Given the description of an element on the screen output the (x, y) to click on. 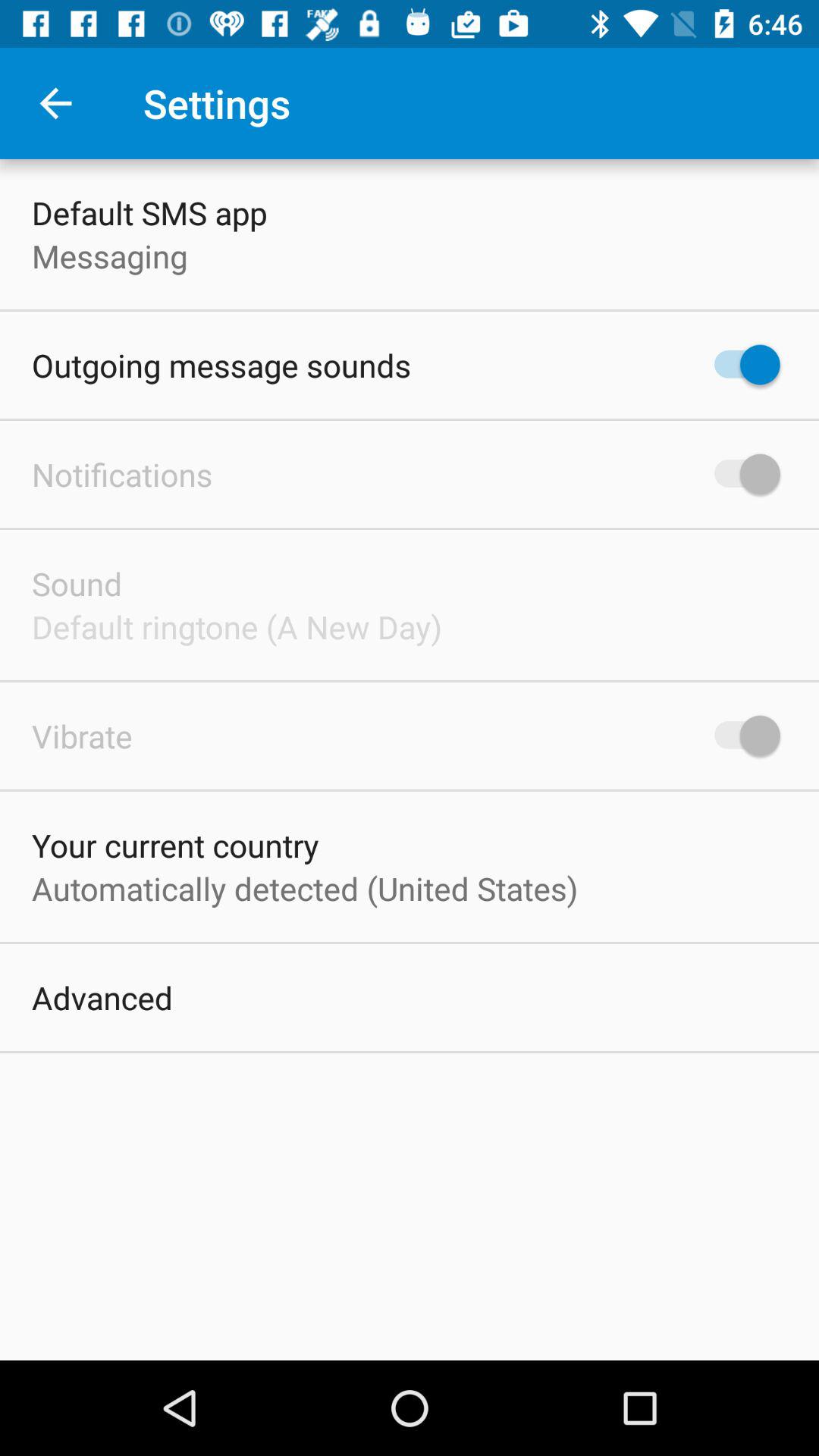
flip to the default ringtone a icon (236, 626)
